Given the description of an element on the screen output the (x, y) to click on. 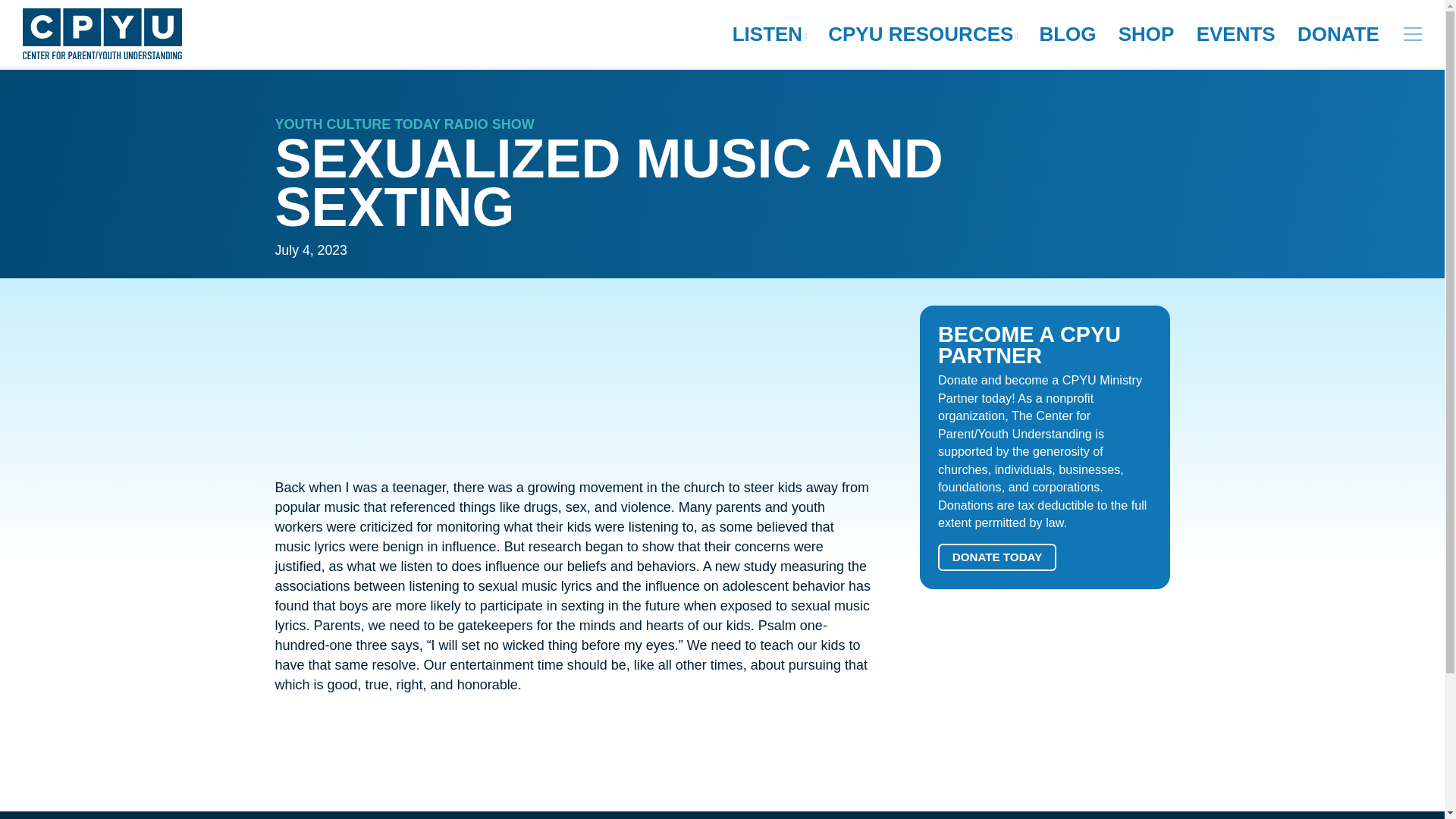
YOUTH CULTURE TODAY RADIO SHOW (404, 124)
DONATE (1338, 34)
LISTEN (769, 34)
CPYU RESOURCES (922, 34)
SHOP (1146, 34)
EVENTS (1236, 34)
DONATE TODAY (997, 557)
BLOG (1067, 34)
